Given the description of an element on the screen output the (x, y) to click on. 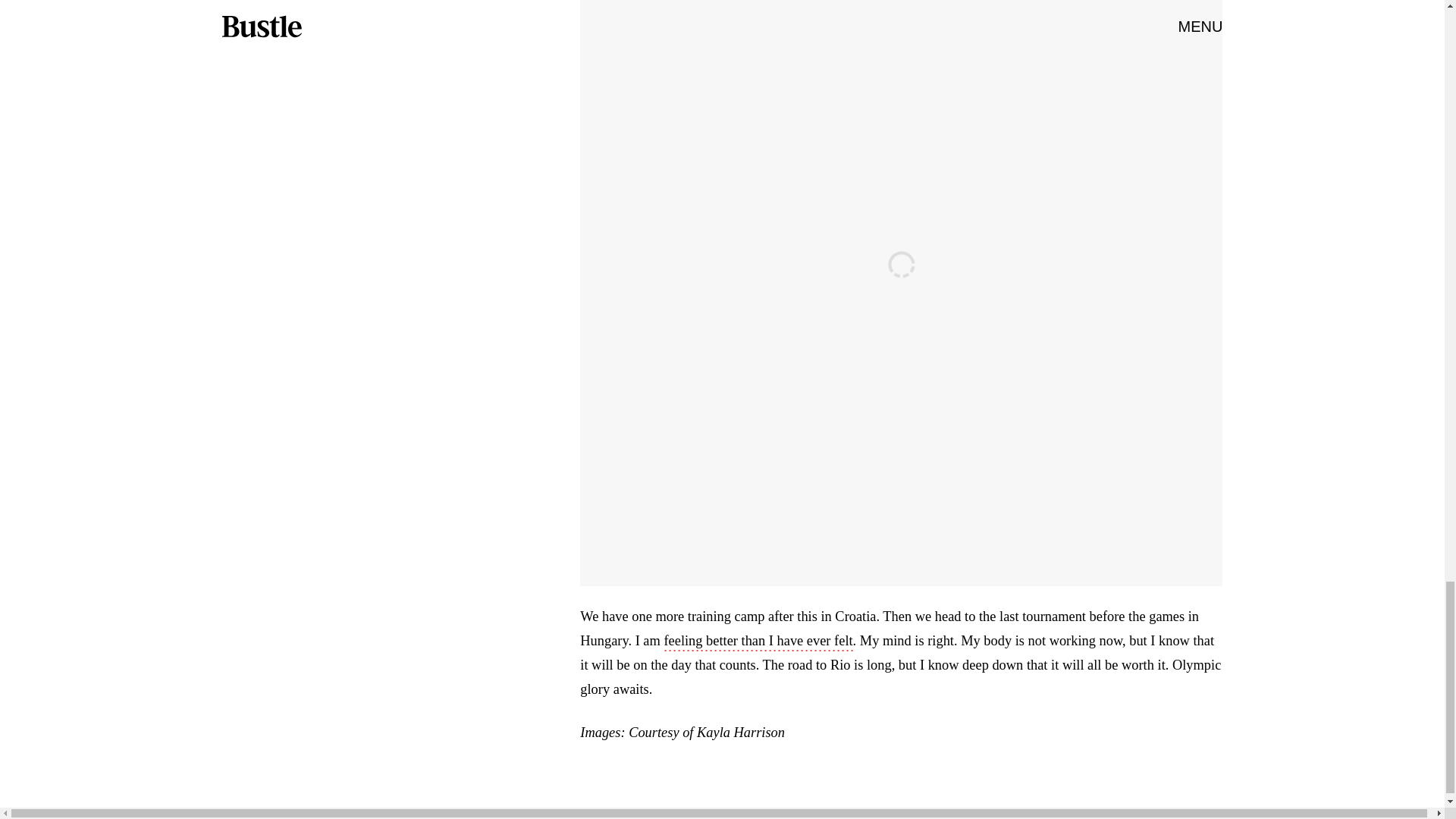
feeling better than I have ever felt (757, 642)
